Given the description of an element on the screen output the (x, y) to click on. 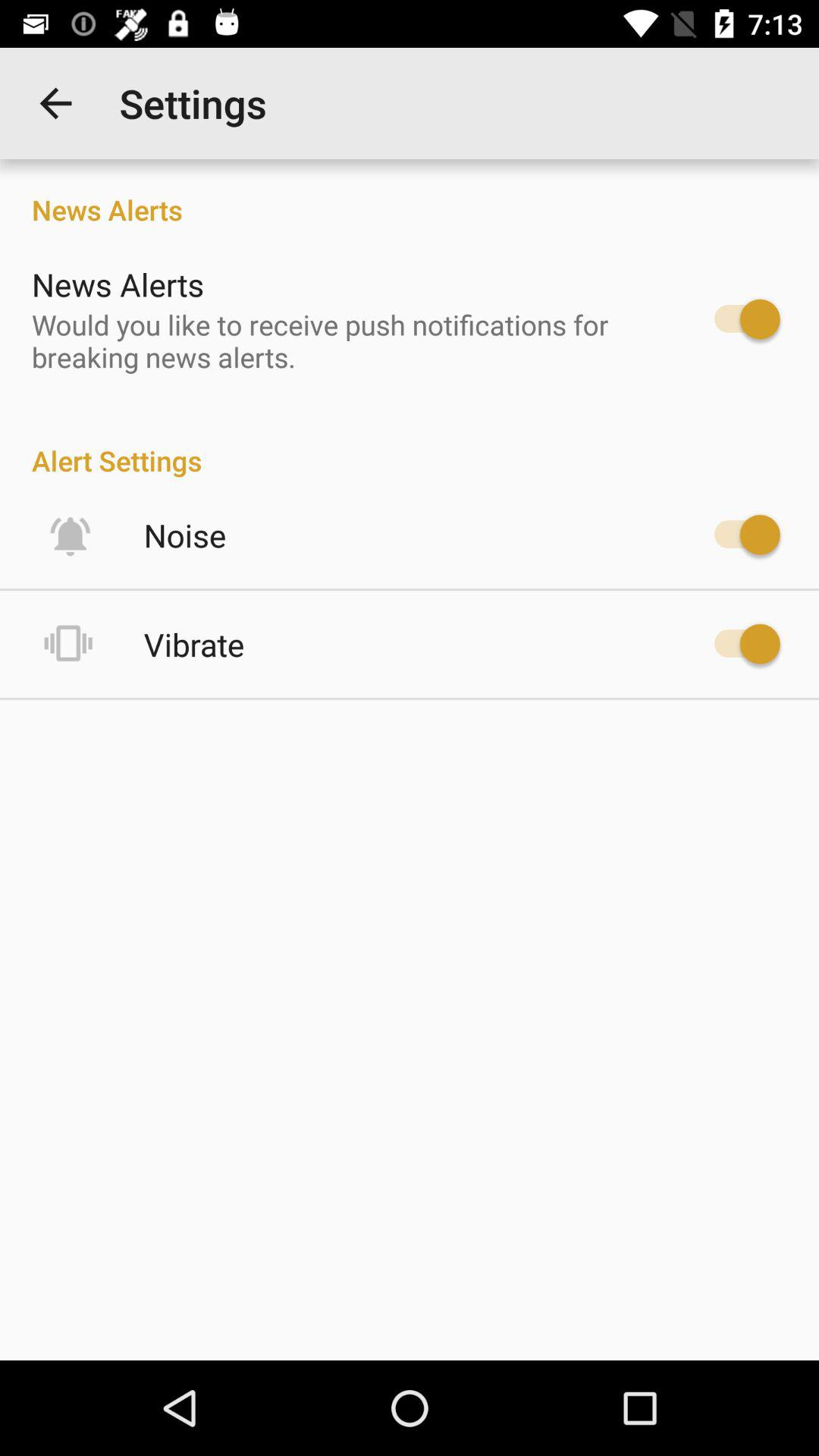
press the icon above the news alerts icon (55, 103)
